Given the description of an element on the screen output the (x, y) to click on. 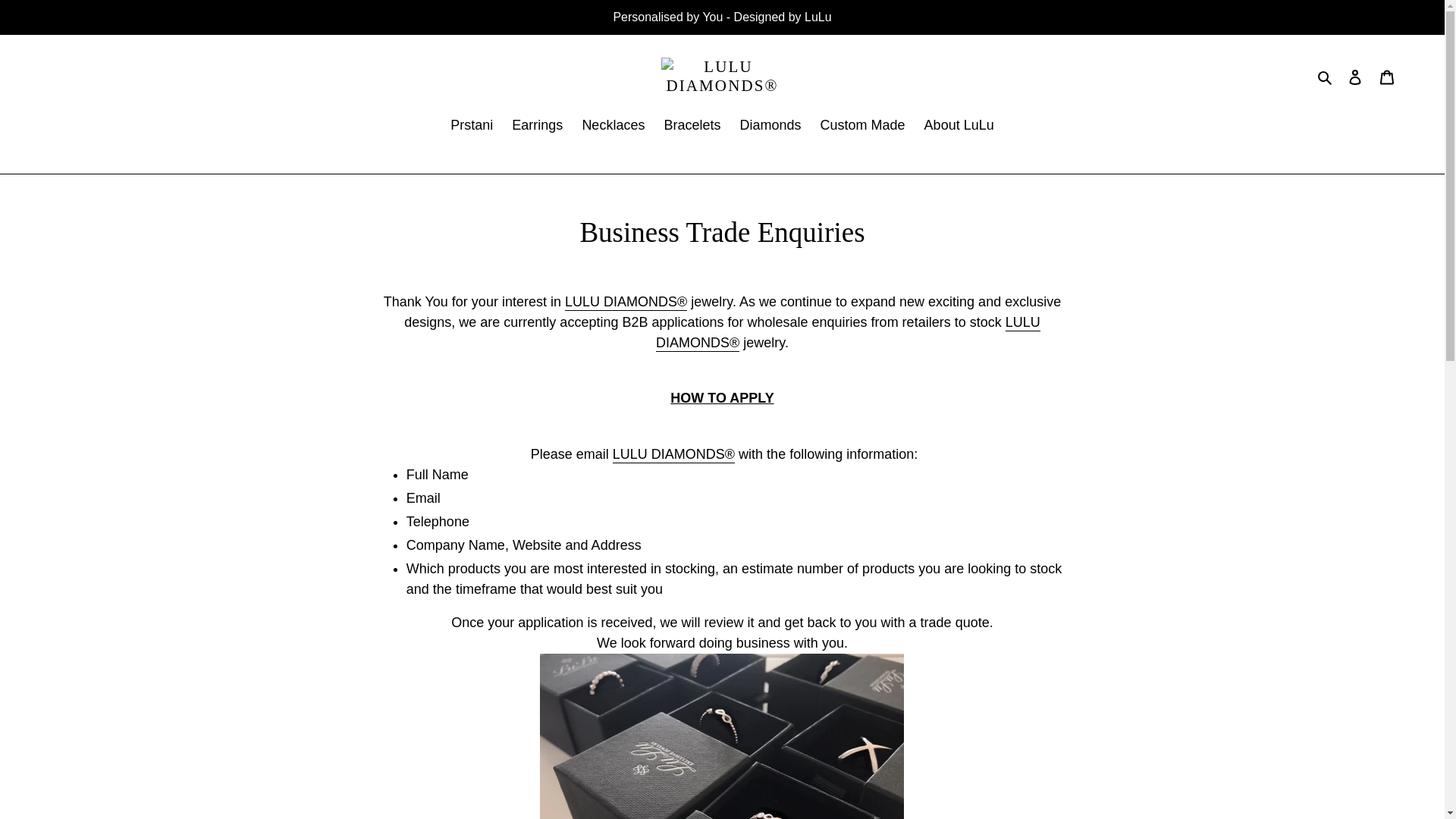
Log in (1355, 76)
Diamonds (770, 126)
About LuLu (959, 126)
Custom Made (862, 126)
All products (625, 302)
Necklaces (612, 126)
Earrings (536, 126)
All products (673, 454)
Prstani (471, 126)
Bracelets (692, 126)
